Given the description of an element on the screen output the (x, y) to click on. 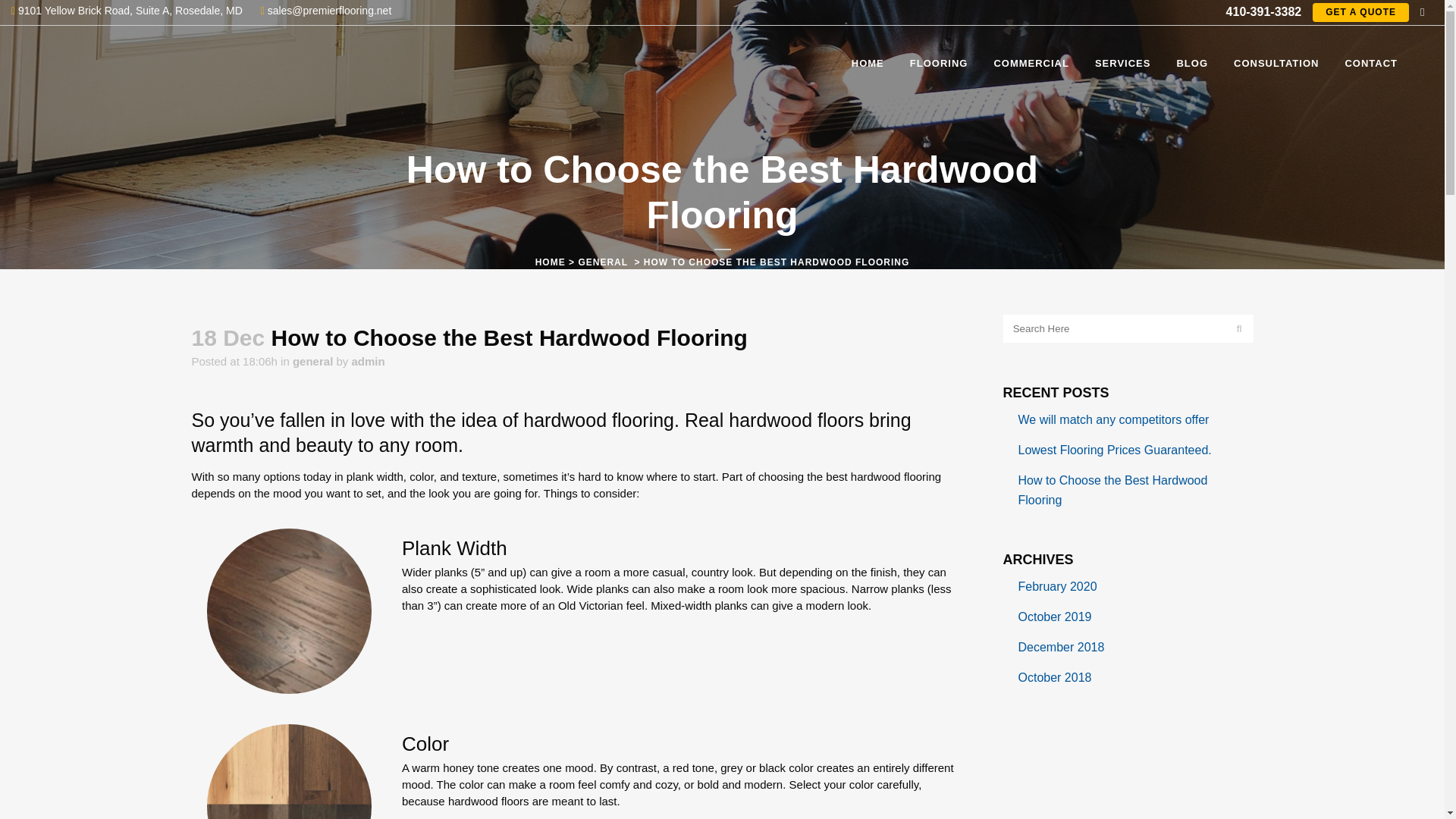
SERVICES (1122, 63)
FLOORING (938, 63)
GET A QUOTE (1361, 12)
CONSULTATION (1276, 63)
wood colors (288, 771)
COMMERCIAL (1030, 63)
CONTACT (1371, 63)
wood-sheen2 (288, 610)
9101 Yellow Brick Road, Suite A, Rosedale, MD (127, 10)
